Given the description of an element on the screen output the (x, y) to click on. 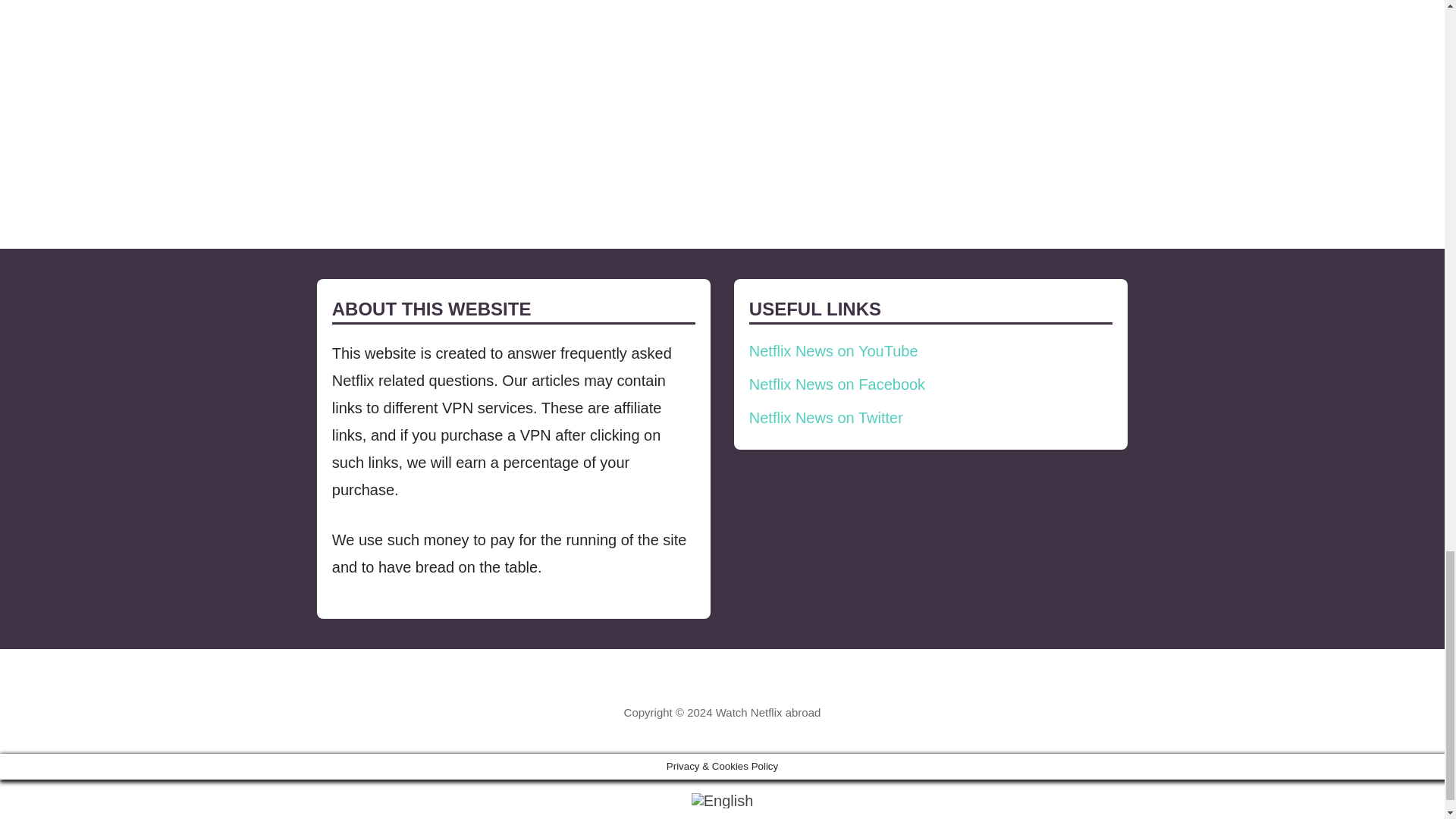
Comment Form (583, 102)
Netflix News on Twitter (825, 417)
Netflix News on YouTube (833, 351)
Netflix News on Facebook (836, 384)
